Given the description of an element on the screen output the (x, y) to click on. 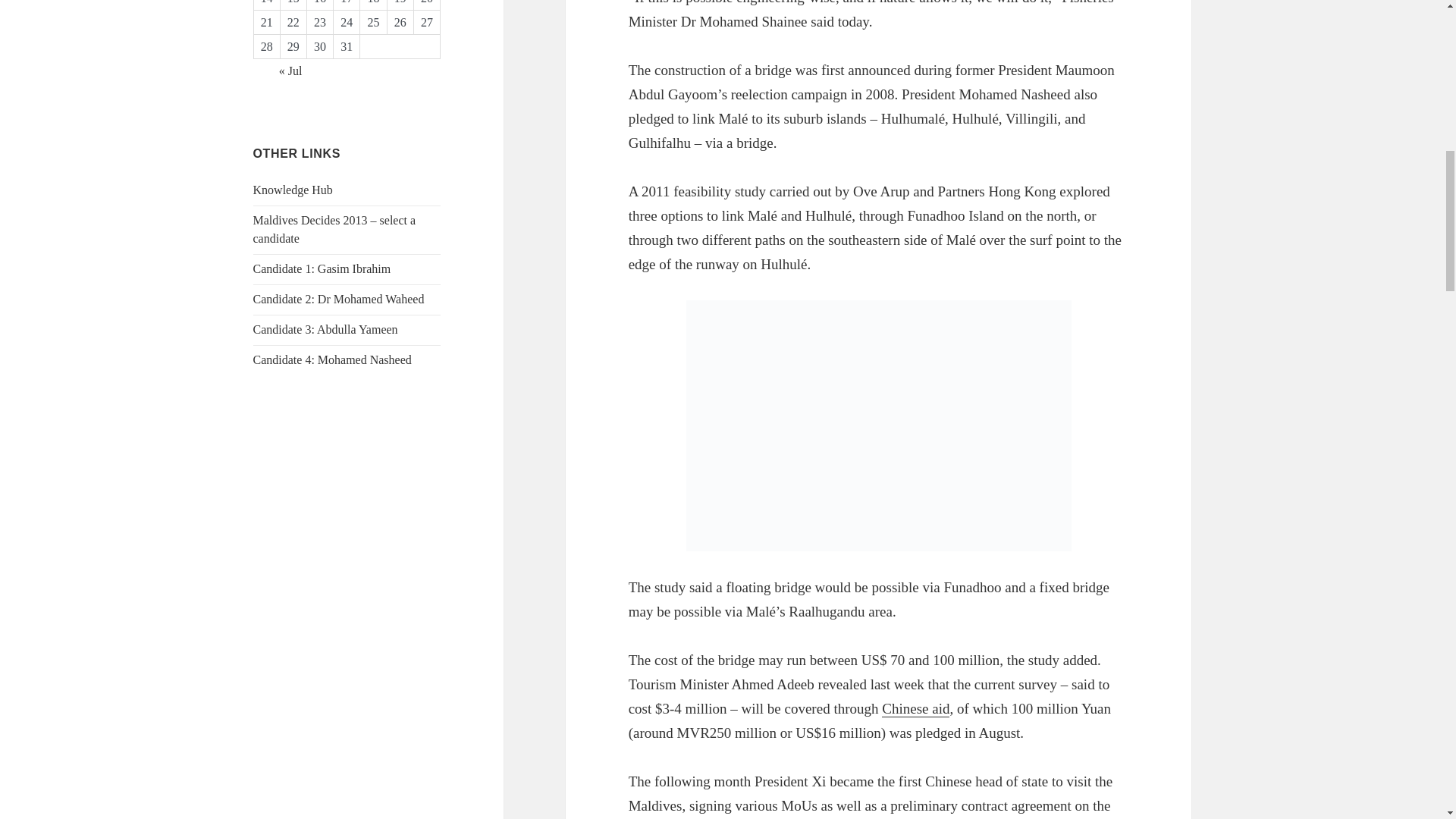
Candidate 2: Dr Mohamed Waheed (339, 298)
Chinese aid (915, 709)
Knowledge Hub (293, 189)
Candidate 1: Gasim Ibrahim (322, 268)
Candidate 3: Abdulla Yameen (325, 328)
Candidate 4: Mohamed Nasheed (332, 359)
